Given the description of an element on the screen output the (x, y) to click on. 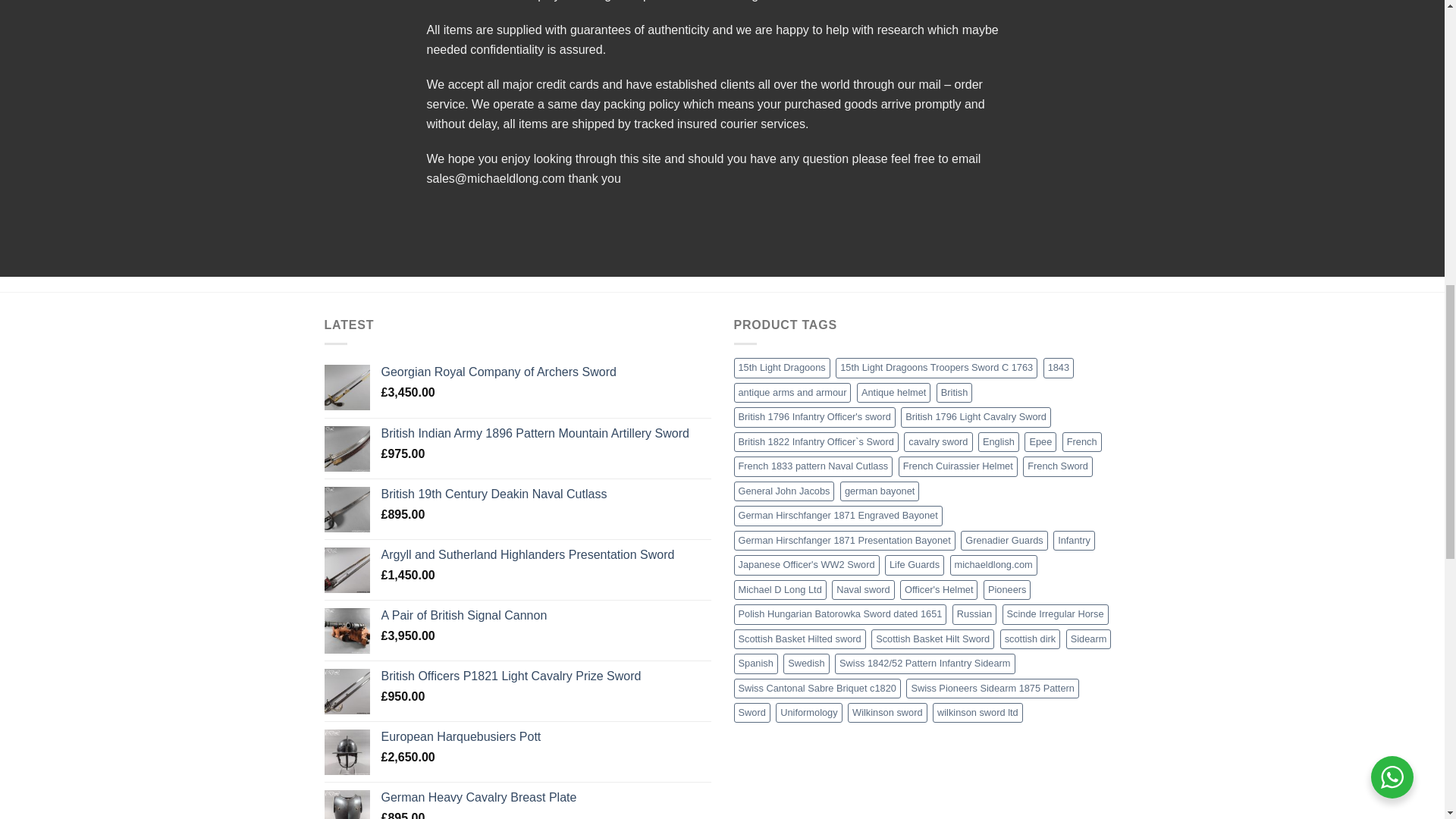
European Harquebusiers Pott (545, 737)
British Indian Army 1896 Pattern Mountain Artillery Sword (545, 433)
British Officers P1821 Light Cavalry Prize Sword (545, 676)
Georgian Royal Company of Archers Sword (545, 372)
German Heavy Cavalry Breast Plate (545, 797)
British 19th Century Deakin Naval Cutlass (545, 494)
Argyll and Sutherland Highlanders Presentation Sword (545, 555)
A Pair of British Signal Cannon (545, 616)
